Given the description of an element on the screen output the (x, y) to click on. 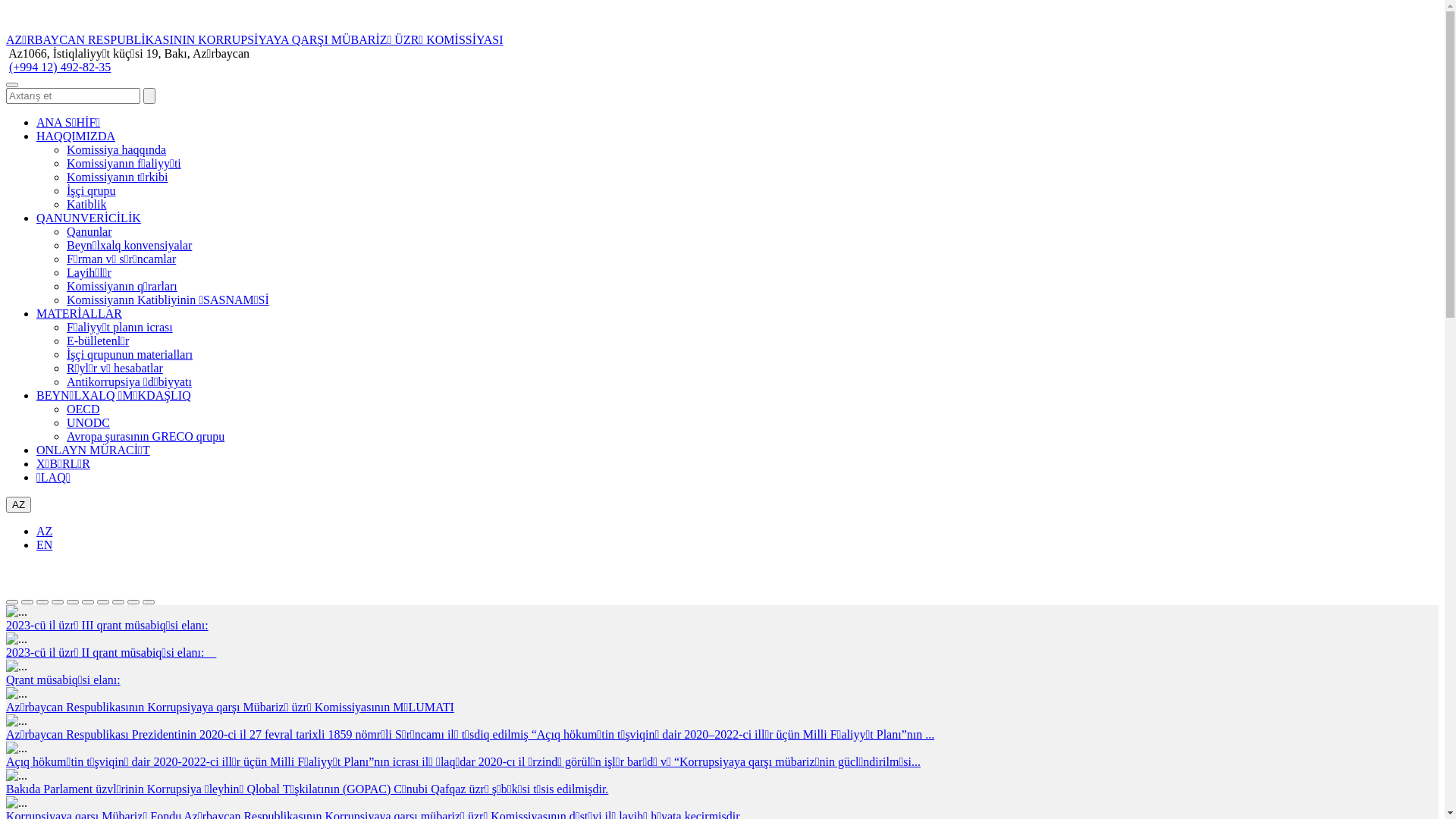
HAQQIMIZDA Element type: text (75, 135)
(+994 12) 492-82-35 Element type: text (59, 66)
Katiblik Element type: text (86, 203)
Qanunlar Element type: text (89, 231)
AZ Element type: text (44, 530)
UNODC Element type: text (87, 422)
AZ Element type: text (18, 504)
OECD Element type: text (83, 408)
EN Element type: text (44, 544)
